Given the description of an element on the screen output the (x, y) to click on. 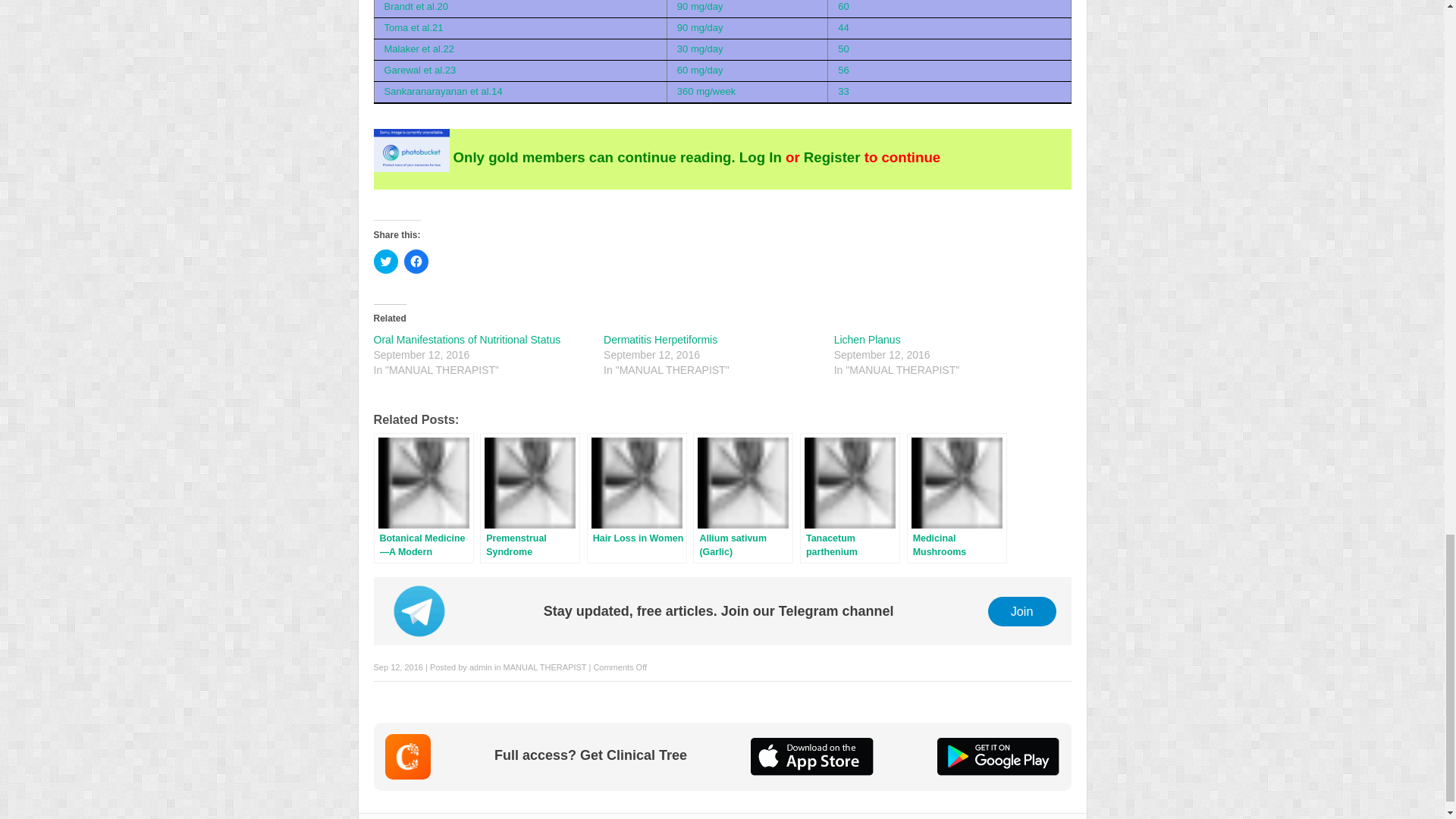
Oral Manifestations of Nutritional Status (466, 339)
Lichen Planus (867, 339)
Dermatitis Herpetiformis (660, 339)
Click to share on Twitter (384, 261)
Click to share on Facebook (415, 261)
Posts by admin (480, 666)
